Given the description of an element on the screen output the (x, y) to click on. 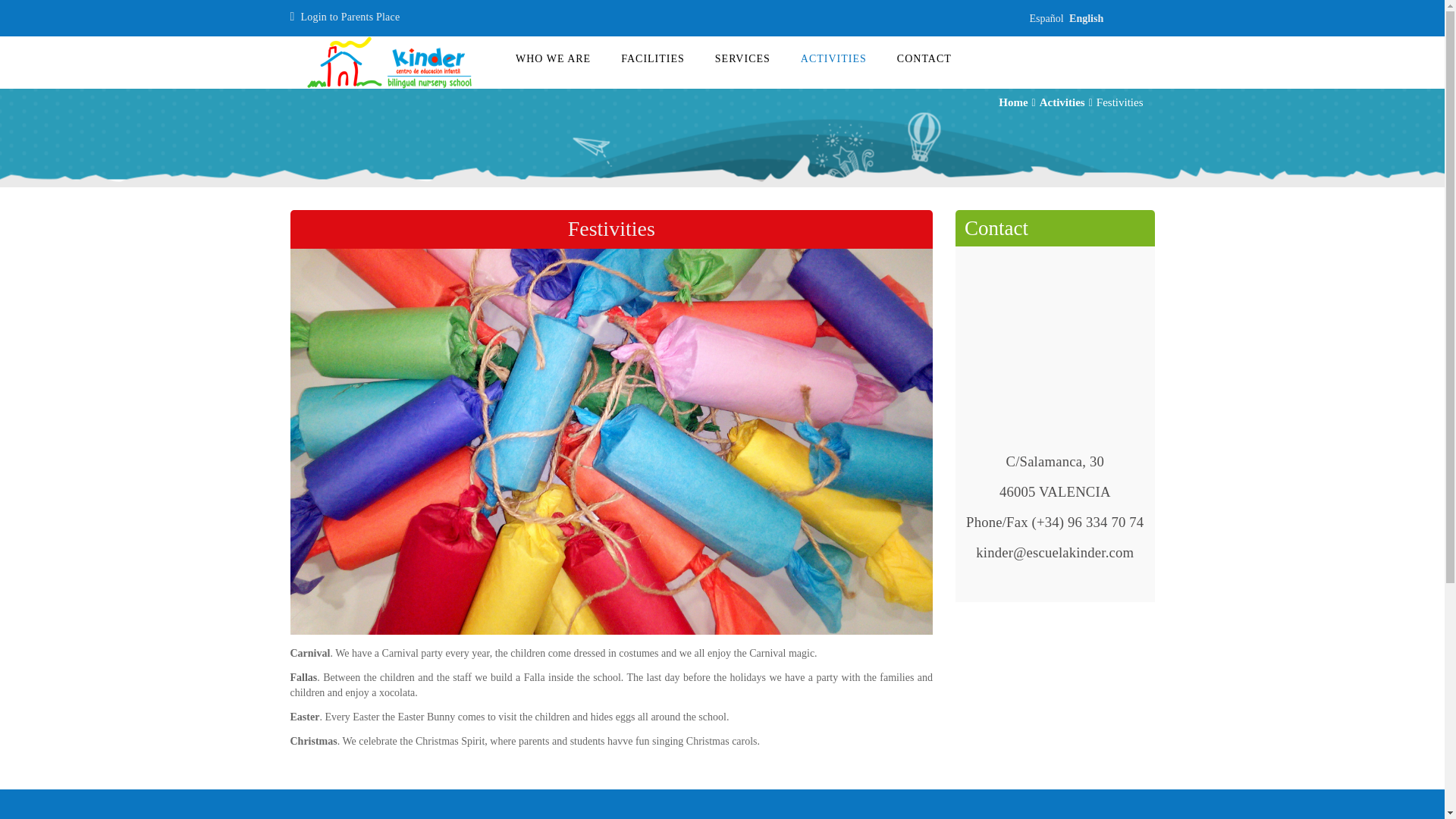
CONTACT (924, 58)
Activities (1061, 102)
SERVICES (743, 58)
ACTIVITIES (834, 58)
English (1085, 18)
WHO WE ARE (552, 58)
FACILITIES (652, 58)
Home (1012, 102)
Login to Parents Place (350, 16)
